Given the description of an element on the screen output the (x, y) to click on. 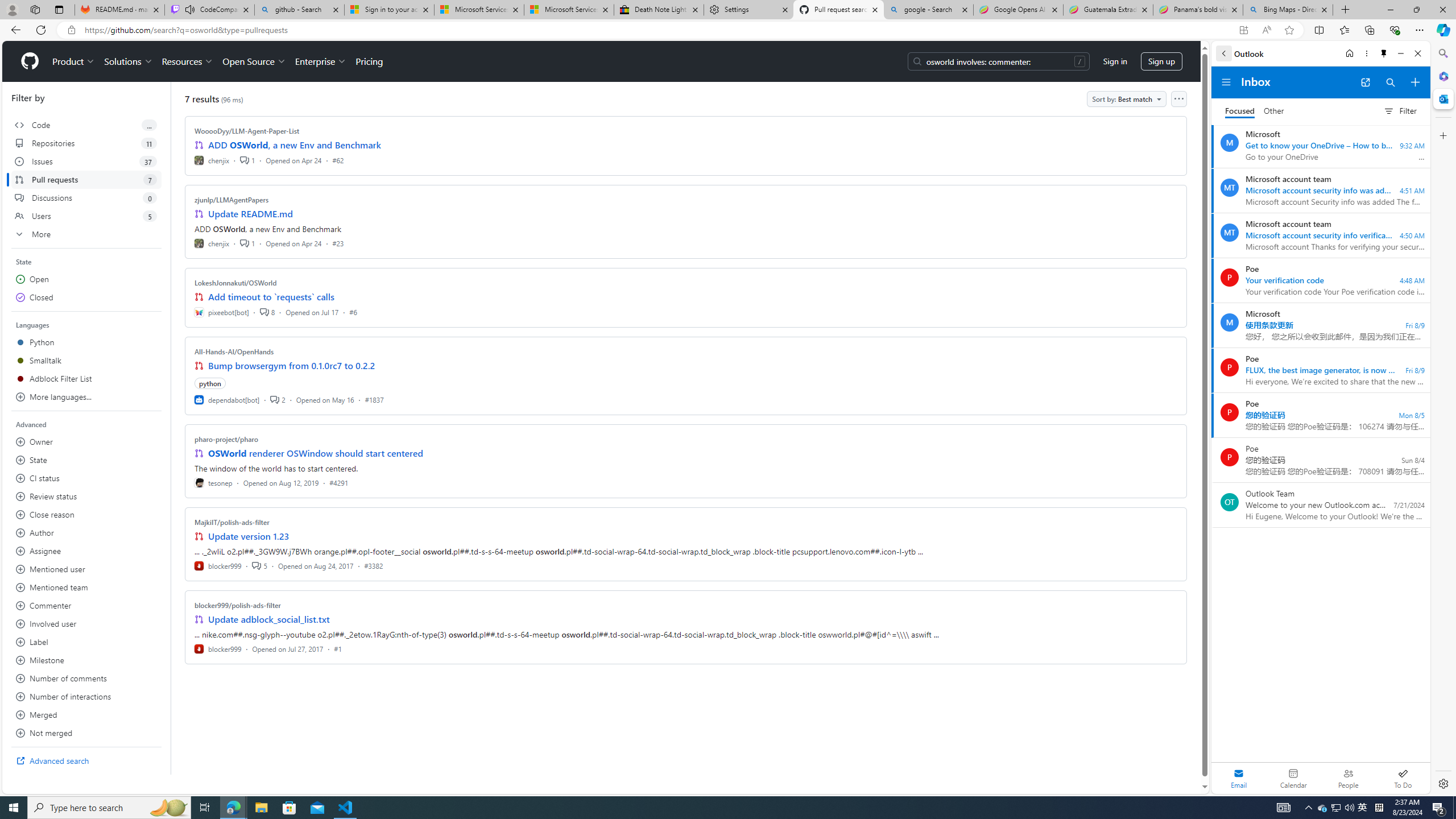
Pricing (368, 60)
#23 (337, 242)
Product (74, 60)
Mute tab (189, 8)
zjunlp/LLMAgentPapers (232, 199)
pixeebot[bot] (221, 311)
